Given the description of an element on the screen output the (x, y) to click on. 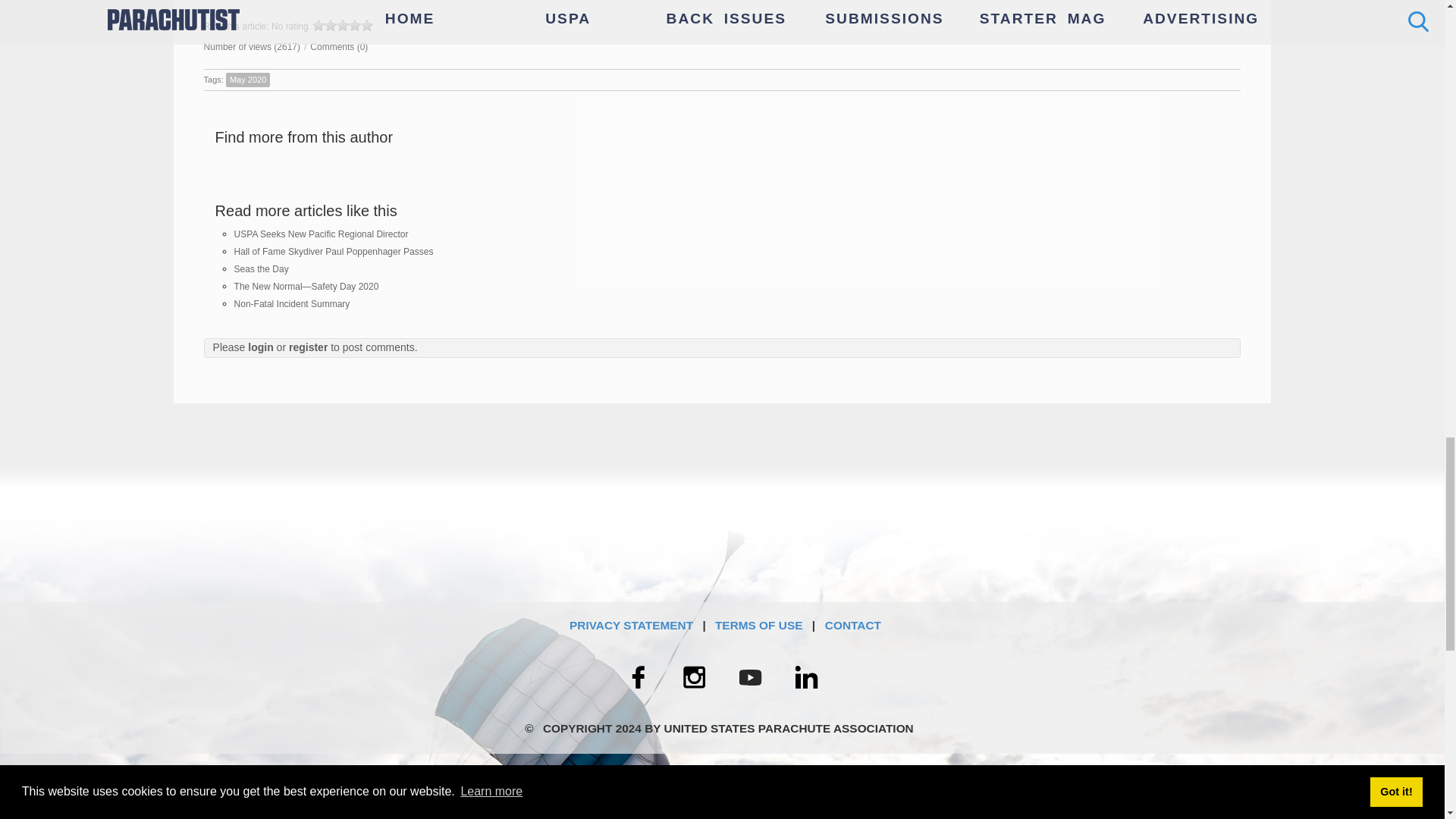
Find more from this author (304, 136)
USPA Seeks New Pacific Regional Director (321, 234)
Hall of Fame Skydiver Paul Poppenhager Passes (333, 251)
register (307, 346)
Seas the Day (261, 268)
May 2020 (247, 79)
login (260, 346)
Non-Fatal Incident Summary (292, 303)
